Given the description of an element on the screen output the (x, y) to click on. 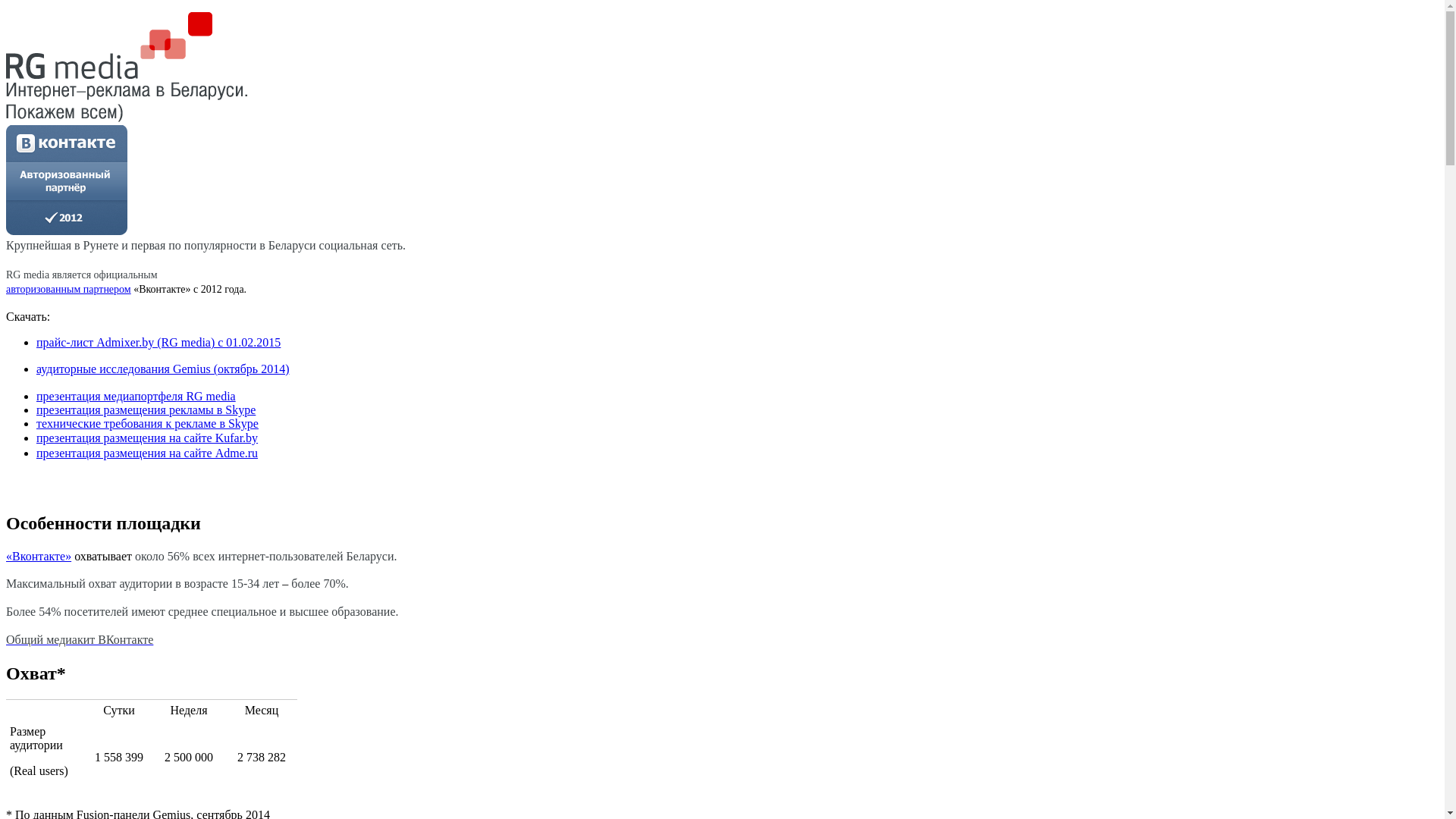
VK Element type: hover (66, 180)
Jump to navigation Element type: text (52, 18)
